Given the description of an element on the screen output the (x, y) to click on. 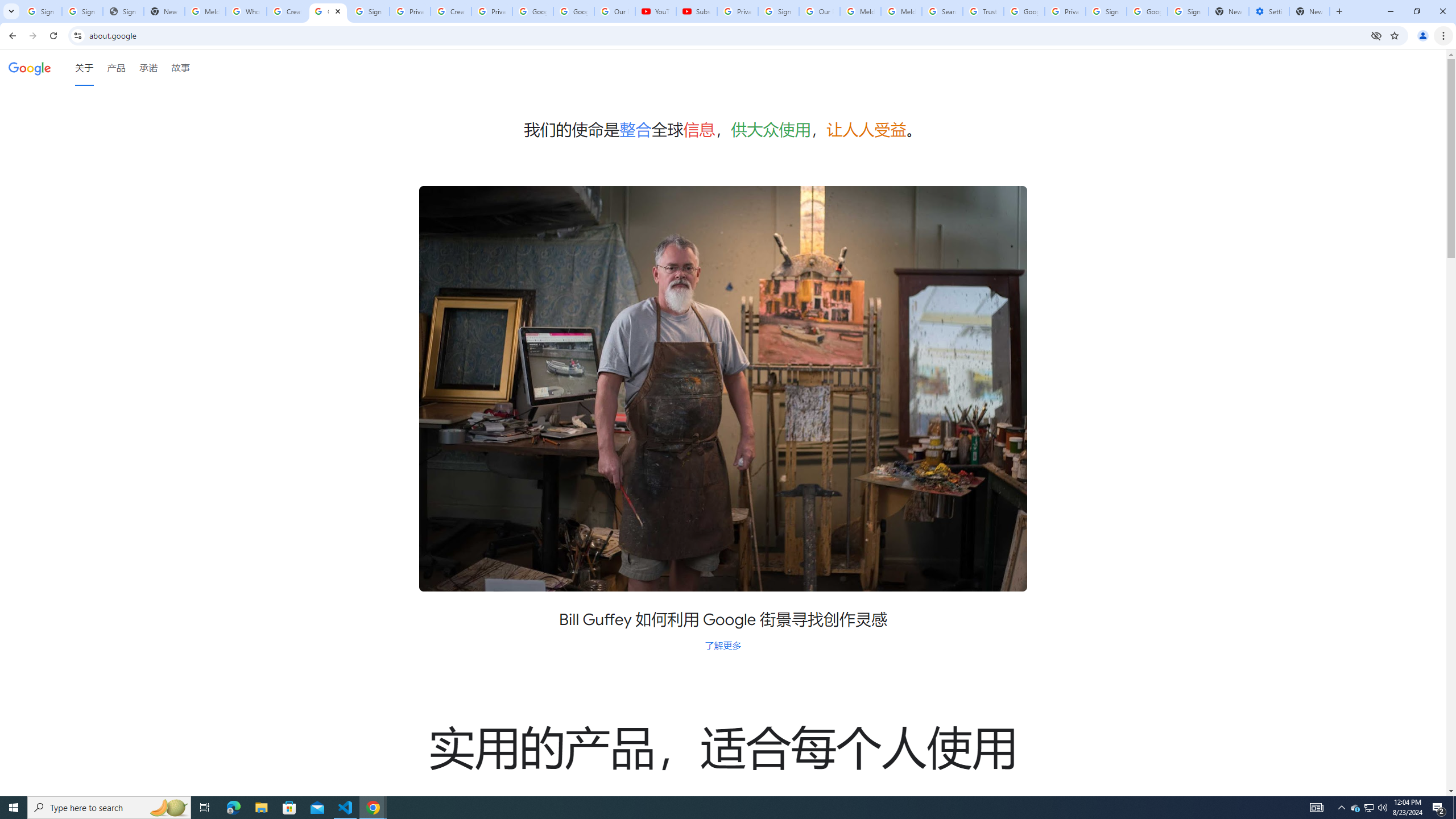
Google Cybersecurity Innovations - Google Safety Center (1146, 11)
Google Ads - Sign in (1023, 11)
Search our Doodle Library Collection - Google Doodles (942, 11)
Subscriptions - YouTube (696, 11)
Sign in - Google Accounts (368, 11)
Who is my administrator? - Google Account Help (246, 11)
